Given the description of an element on the screen output the (x, y) to click on. 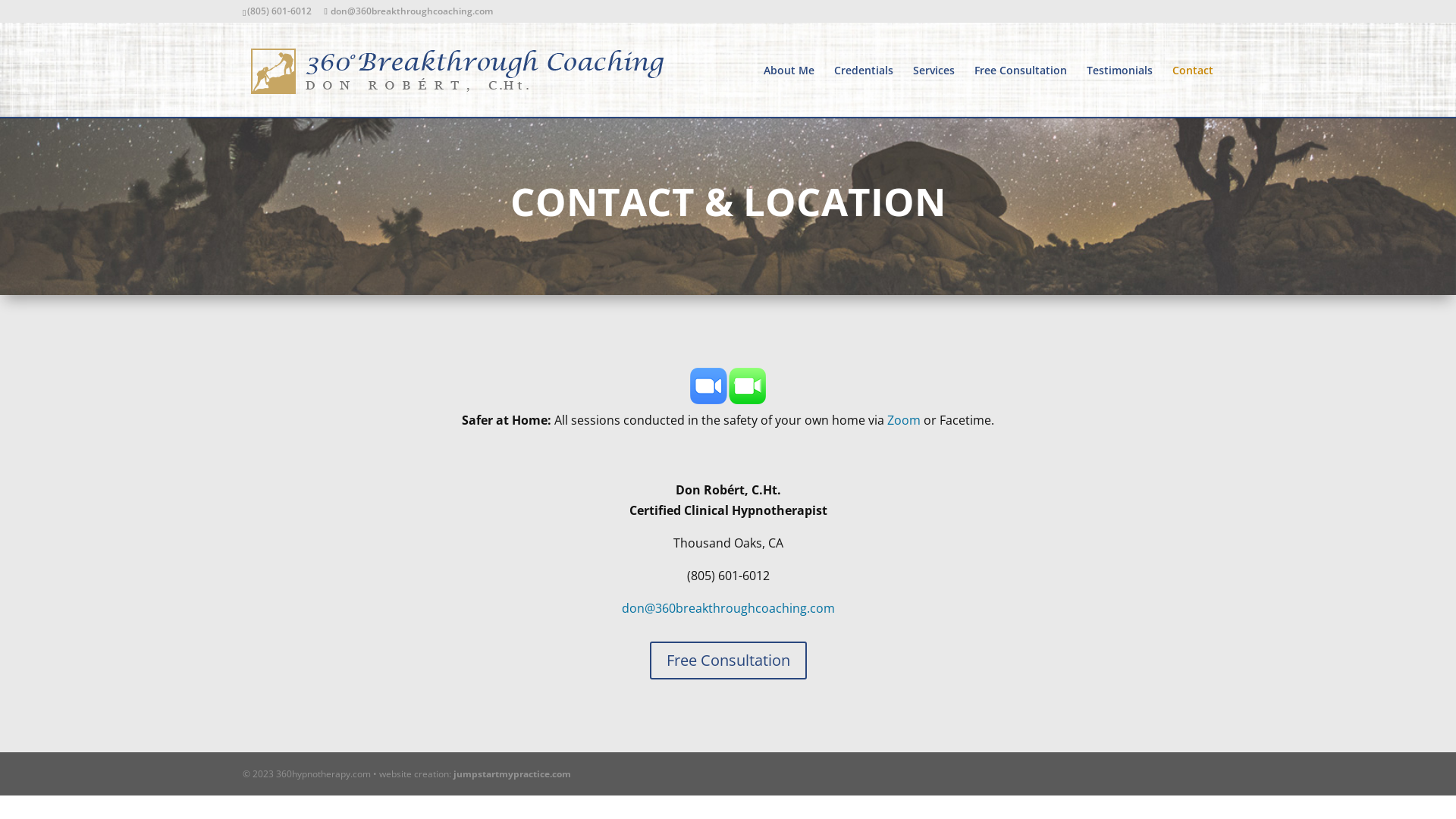
About Me Element type: text (788, 91)
Services Element type: text (933, 91)
Contact Element type: text (1192, 91)
Testimonials Element type: text (1119, 91)
Free Consultation Element type: text (1020, 91)
Credentials Element type: text (863, 91)
don@360breakthroughcoaching.com Element type: text (727, 607)
jumpstartmypractice.com Element type: text (512, 773)
Free Consultation Element type: text (727, 660)
don@360breakthroughcoaching.com Element type: text (407, 10)
Zoom Element type: text (903, 419)
